Given the description of an element on the screen output the (x, y) to click on. 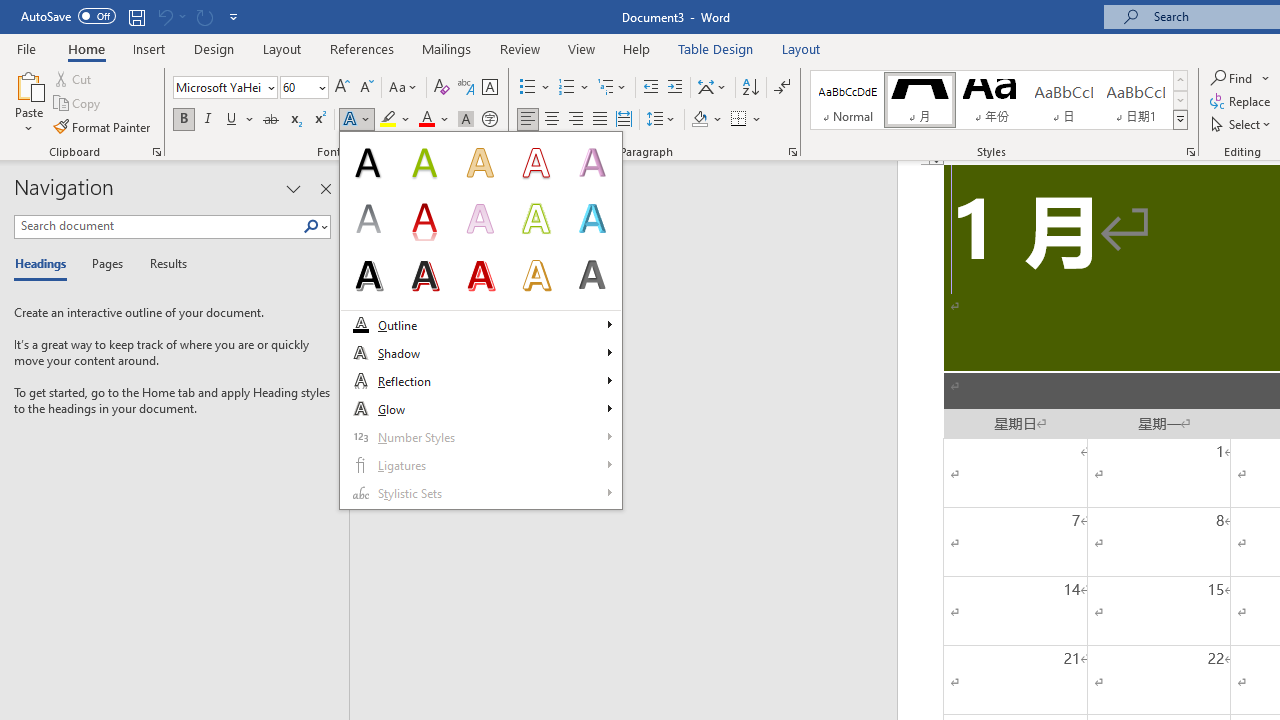
Can't Undo (164, 15)
